Given the description of an element on the screen output the (x, y) to click on. 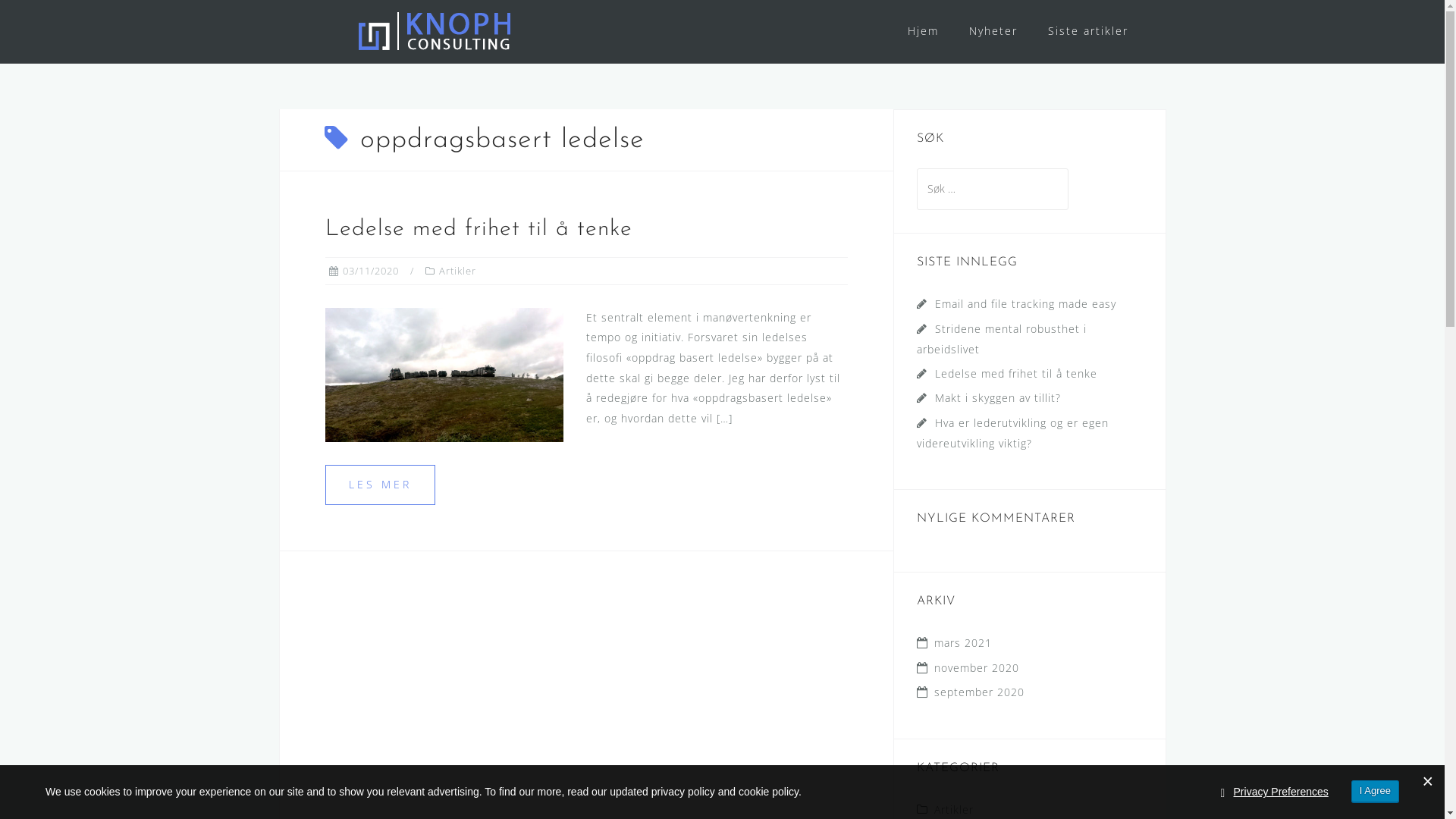
Hva er lederutvikling og er egen videreutvikling viktig? Element type: text (1011, 433)
Email and file tracking made easy Element type: text (1024, 303)
Hjem Element type: text (922, 30)
september 2020 Element type: text (979, 691)
mars 2021 Element type: text (962, 642)
I Agree Element type: text (1375, 791)
Makt i skyggen av tillit? Element type: text (997, 397)
03/11/2020 Element type: text (370, 270)
Artikler Element type: text (953, 809)
LES MER Element type: text (379, 484)
Stridene mental robusthet i arbeidslivet Element type: text (1000, 339)
Nyheter Element type: text (993, 30)
Artikler Element type: text (456, 270)
november 2020 Element type: text (976, 667)
Privacy Preferences Element type: text (1281, 791)
Siste artikler Element type: text (1088, 30)
